Given the description of an element on the screen output the (x, y) to click on. 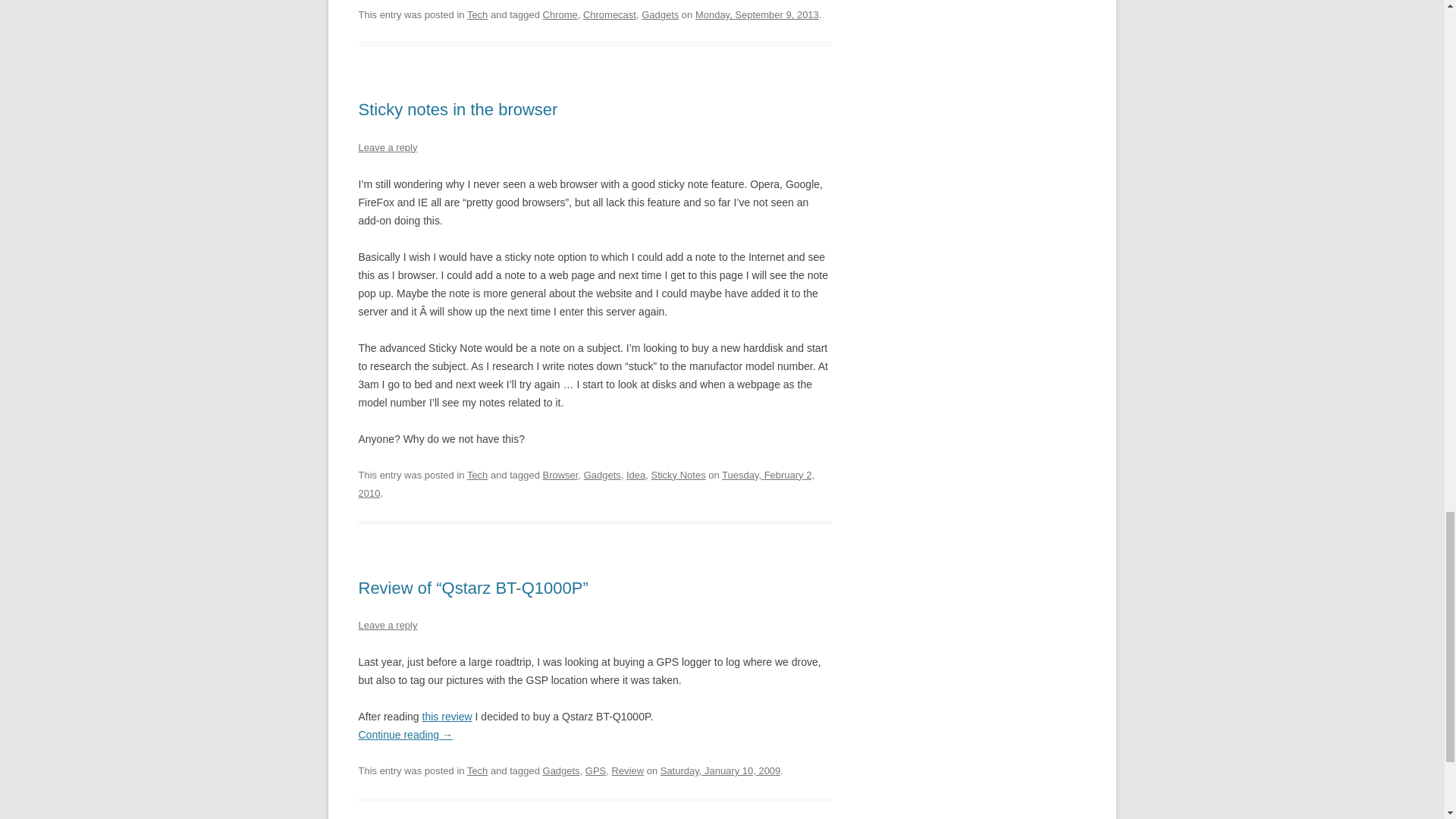
Chromecast (609, 14)
Tech (477, 14)
Leave a reply (387, 147)
Chrome (560, 14)
14:33 (720, 770)
Monday, September 9, 2013 (756, 14)
Tech (477, 474)
Browser (560, 474)
2:31 (585, 483)
Gadgets (660, 14)
14:33 (756, 14)
Sticky notes in the browser (457, 108)
